Given the description of an element on the screen output the (x, y) to click on. 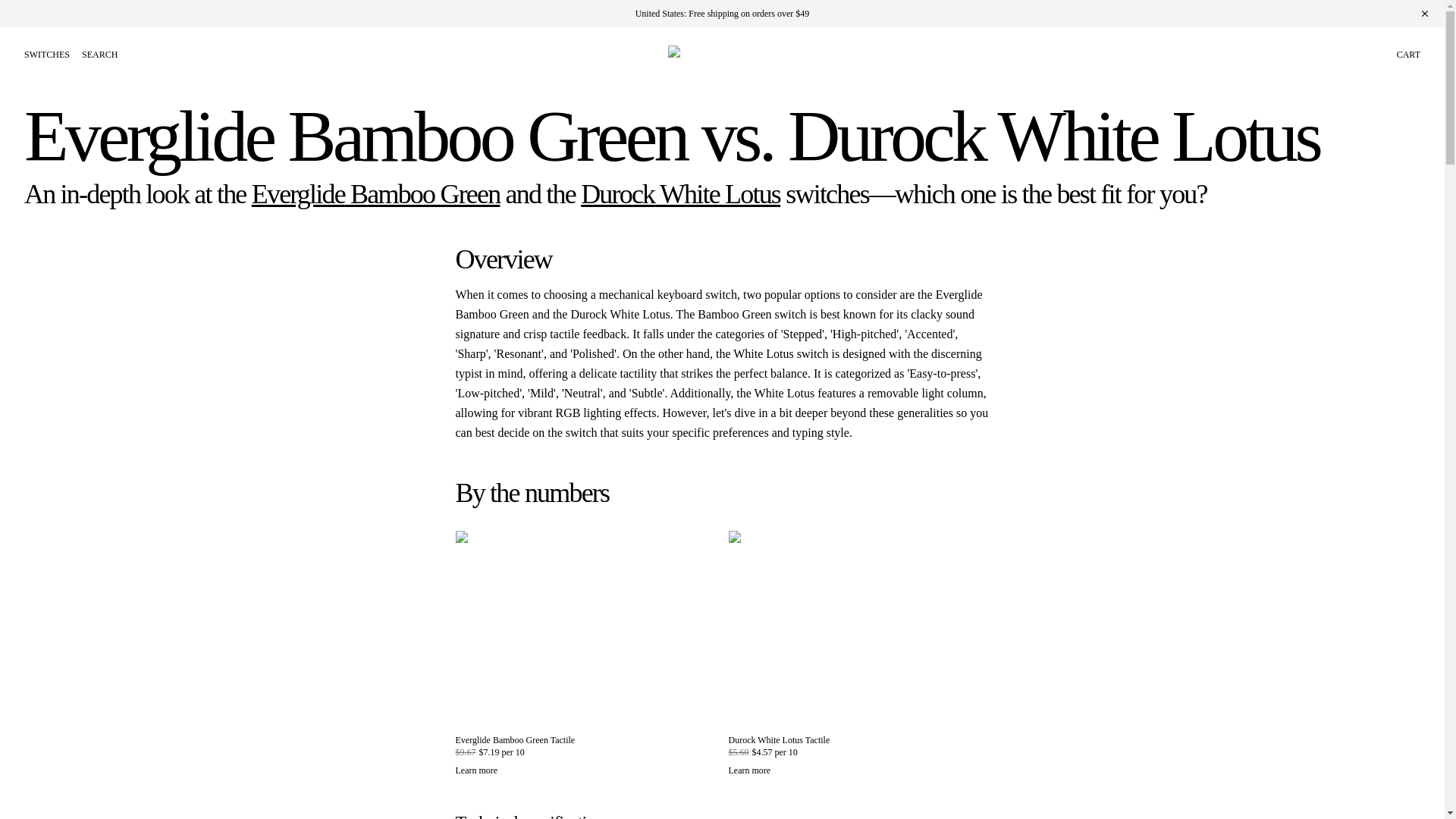
Learn more (858, 770)
Durock White Lotus (680, 194)
CART (1408, 54)
Everglide Bamboo Green Tactile (514, 739)
Durock White Lotus Tactile (778, 739)
SWITCHES (46, 54)
SEARCH (99, 54)
Everglide Bamboo Green (375, 194)
Learn more (585, 770)
